Given the description of an element on the screen output the (x, y) to click on. 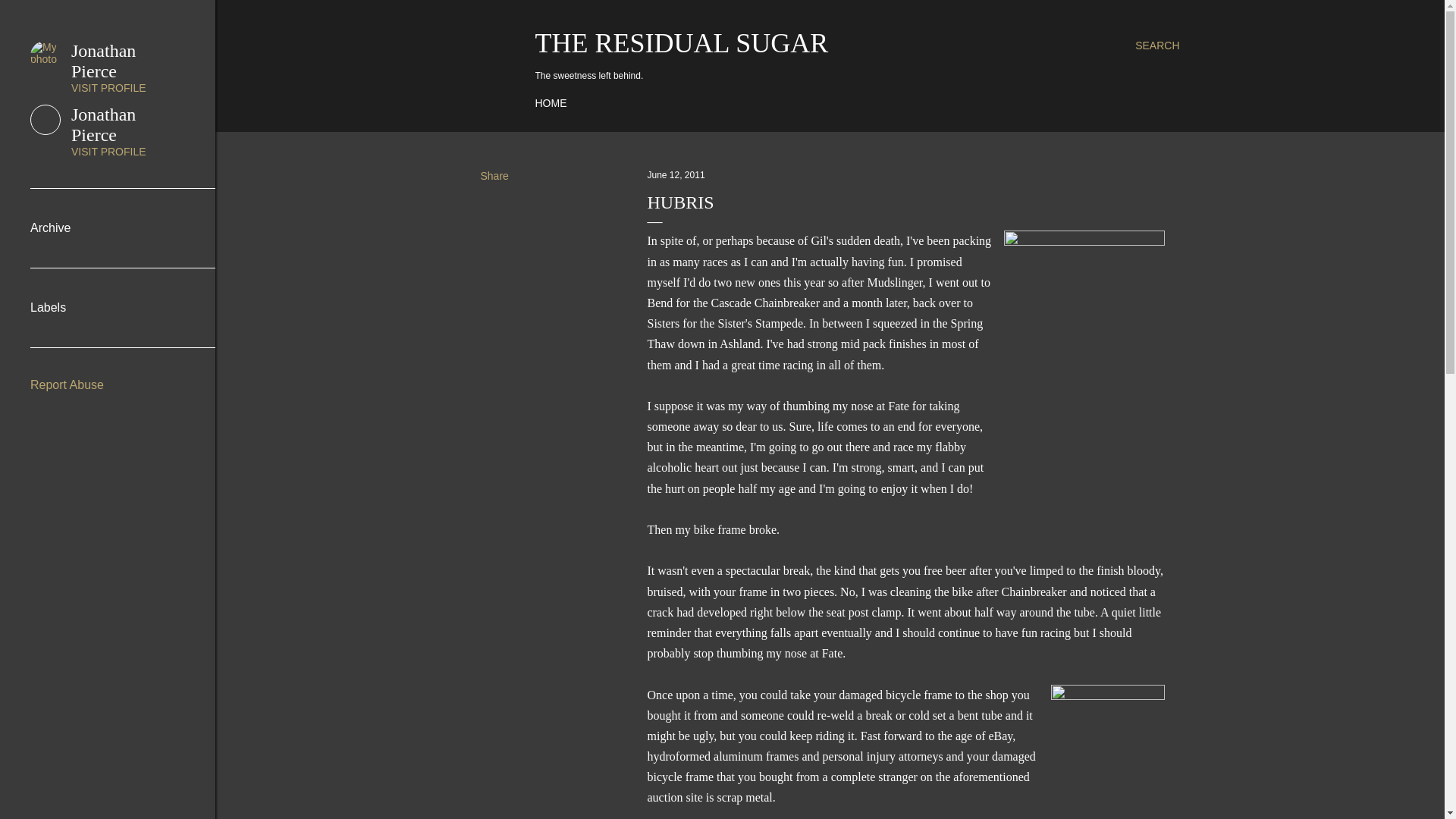
permanent link (107, 131)
SEARCH (675, 174)
HOME (1157, 45)
June 12, 2011 (551, 102)
THE RESIDUAL SUGAR (675, 174)
Share (681, 42)
